Given the description of an element on the screen output the (x, y) to click on. 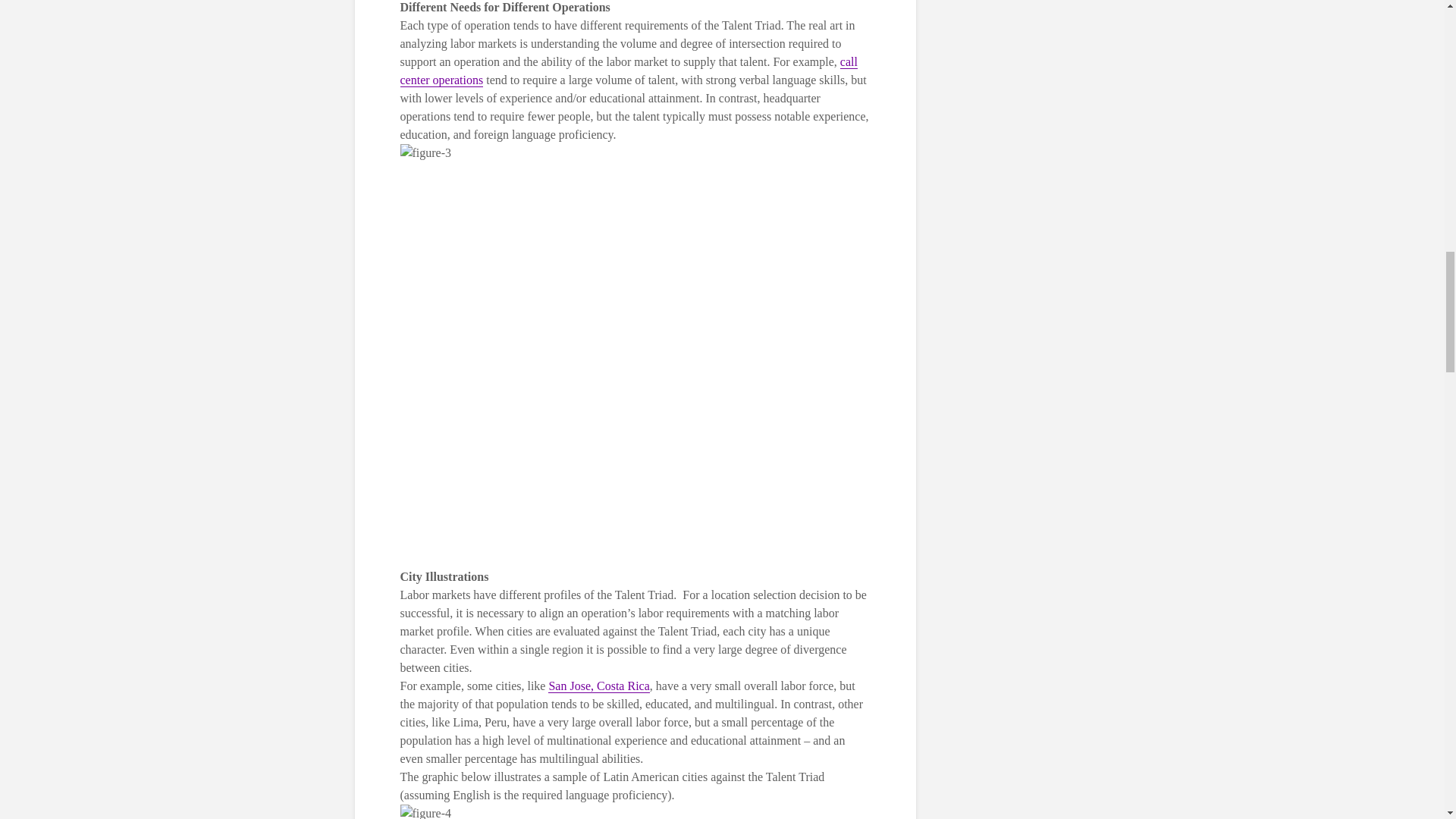
call center operations (628, 70)
San Jose, Costa Rica (598, 685)
